Given the description of an element on the screen output the (x, y) to click on. 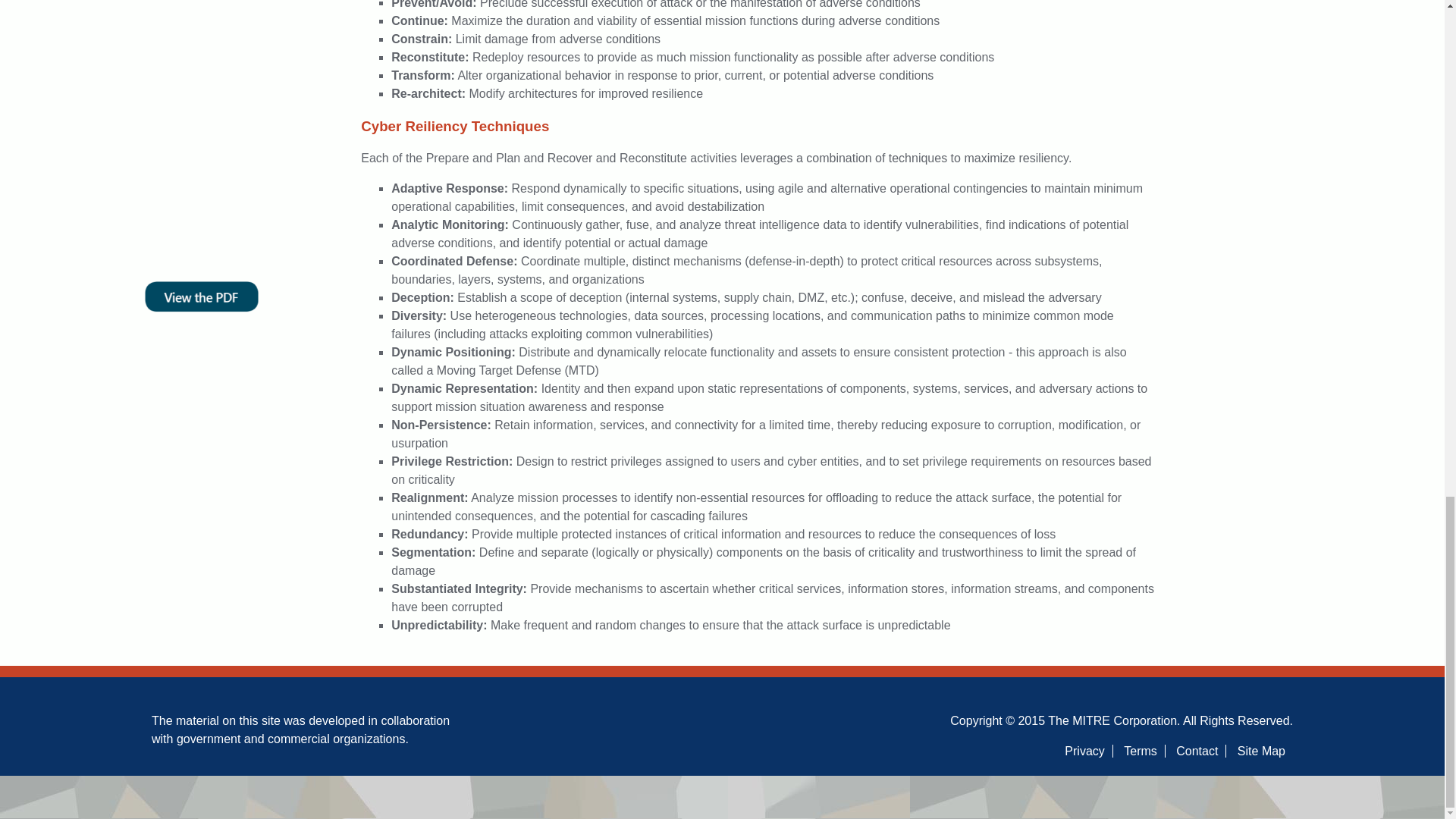
Contact (1196, 750)
Site Map (1261, 750)
Terms (1140, 750)
Privacy (1083, 750)
